Given the description of an element on the screen output the (x, y) to click on. 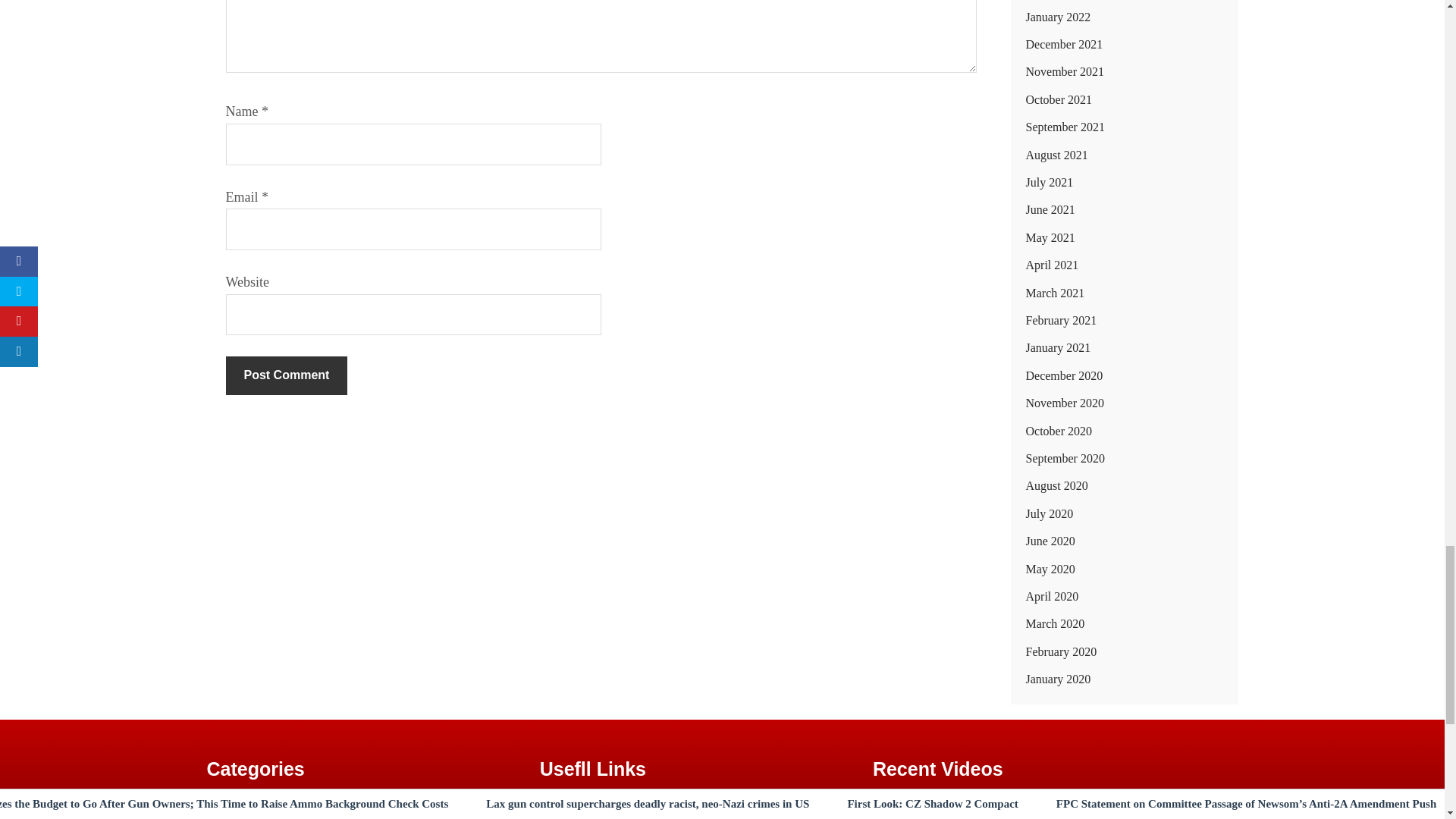
Post Comment (286, 374)
